Given the description of an element on the screen output the (x, y) to click on. 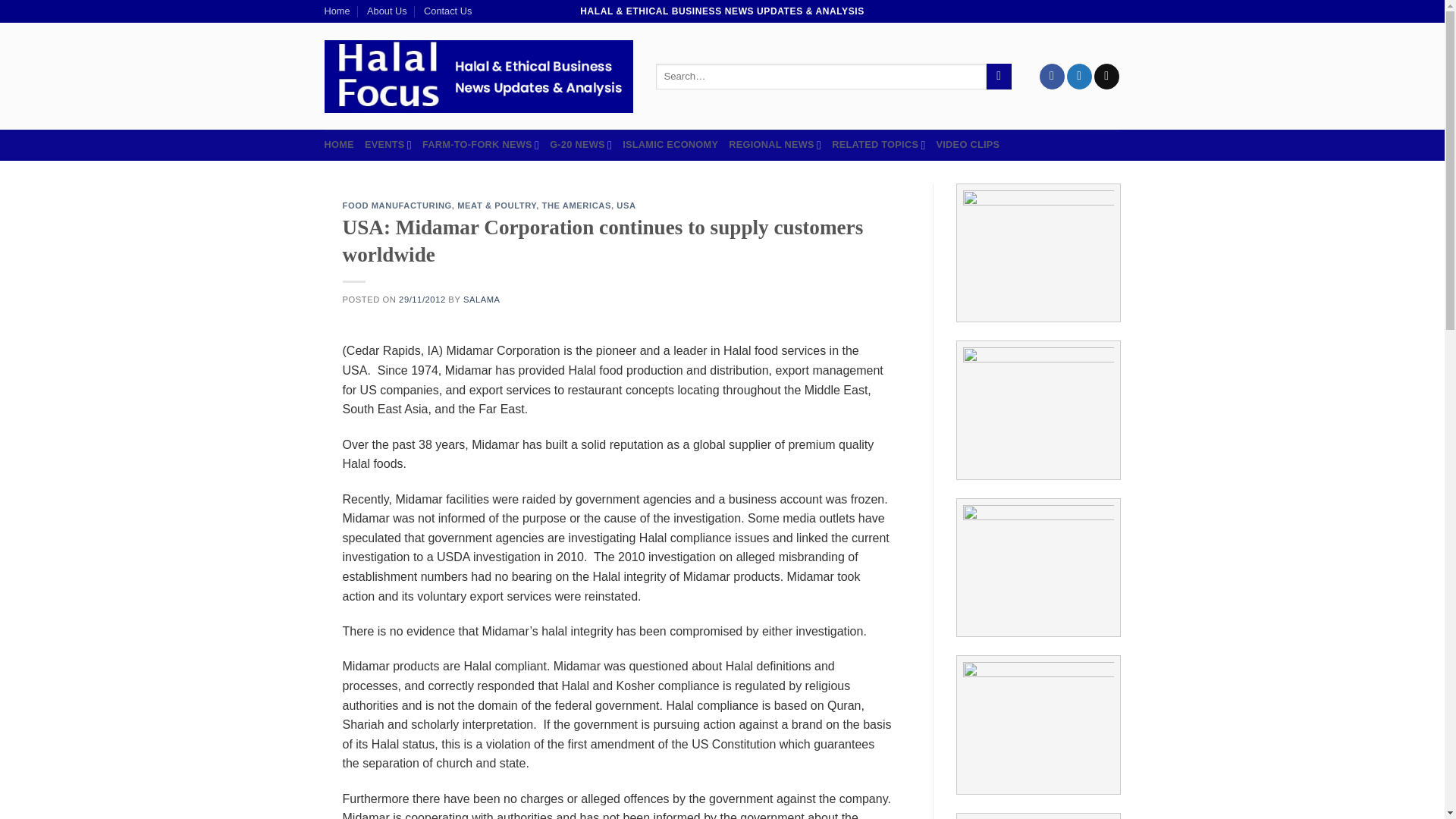
HOME (338, 144)
Contact Us (447, 11)
G-20 NEWS (580, 144)
Send us an email (1106, 76)
Follow on Facebook (1051, 76)
Follow on Twitter (1079, 76)
FARM-TO-FORK NEWS (480, 144)
About Us (386, 11)
Home (337, 11)
